Given the description of an element on the screen output the (x, y) to click on. 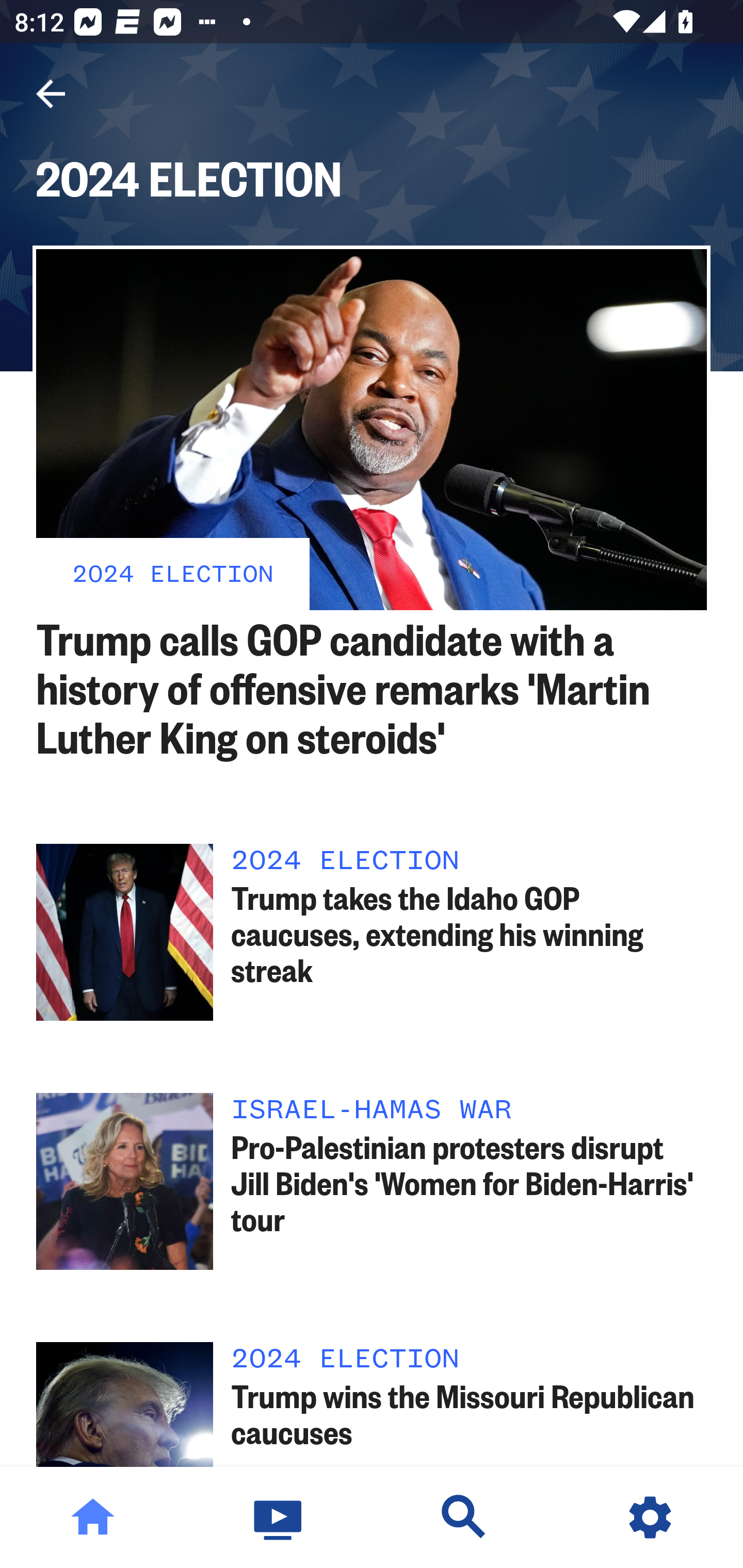
Navigate up (50, 93)
Watch (278, 1517)
Discover (464, 1517)
Settings (650, 1517)
